Given the description of an element on the screen output the (x, y) to click on. 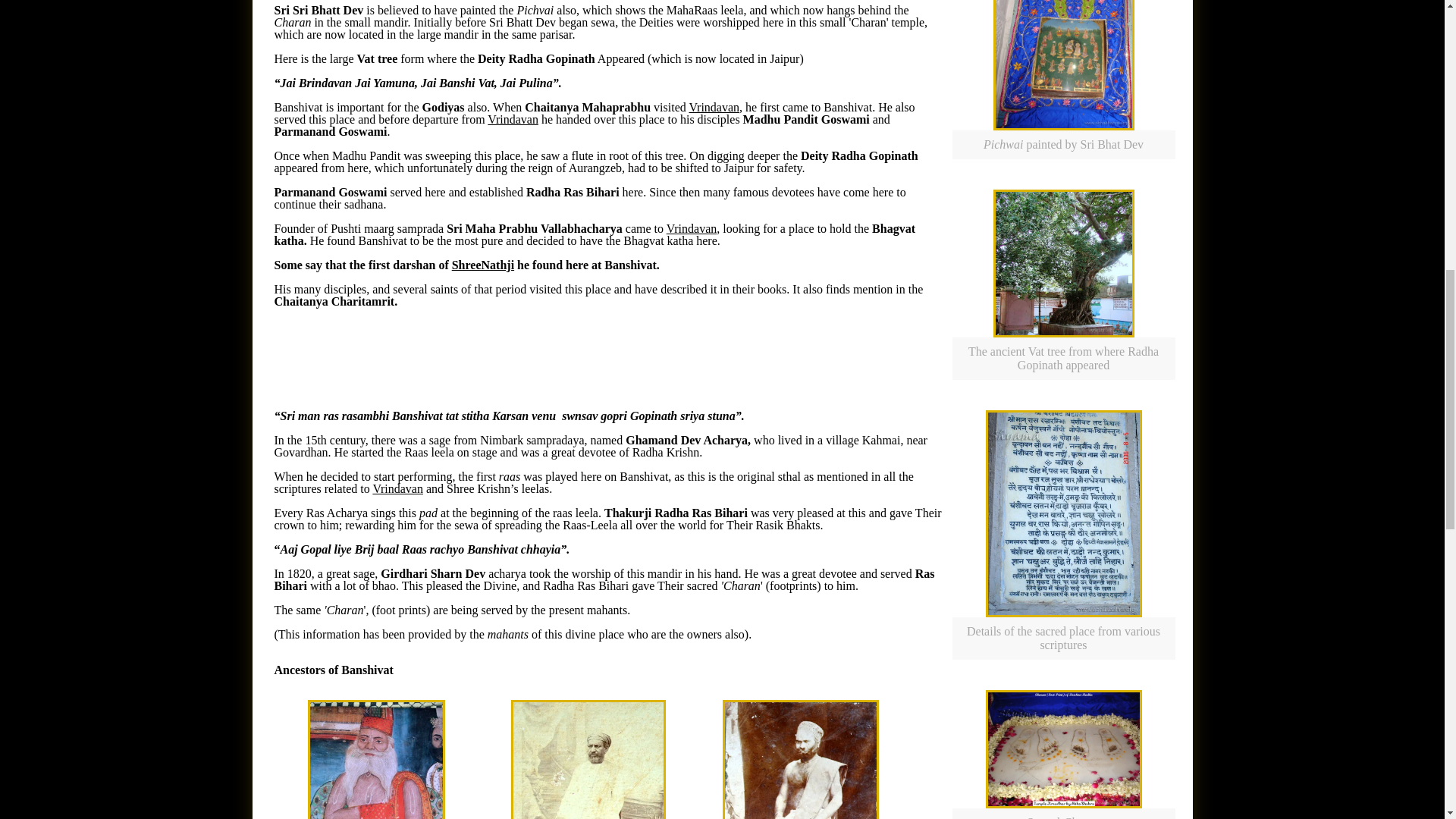
Vrindavan (512, 119)
ShreeNathji (482, 264)
Vrindavan (397, 488)
Vrindavan (691, 228)
Vrindavan (713, 106)
